Given the description of an element on the screen output the (x, y) to click on. 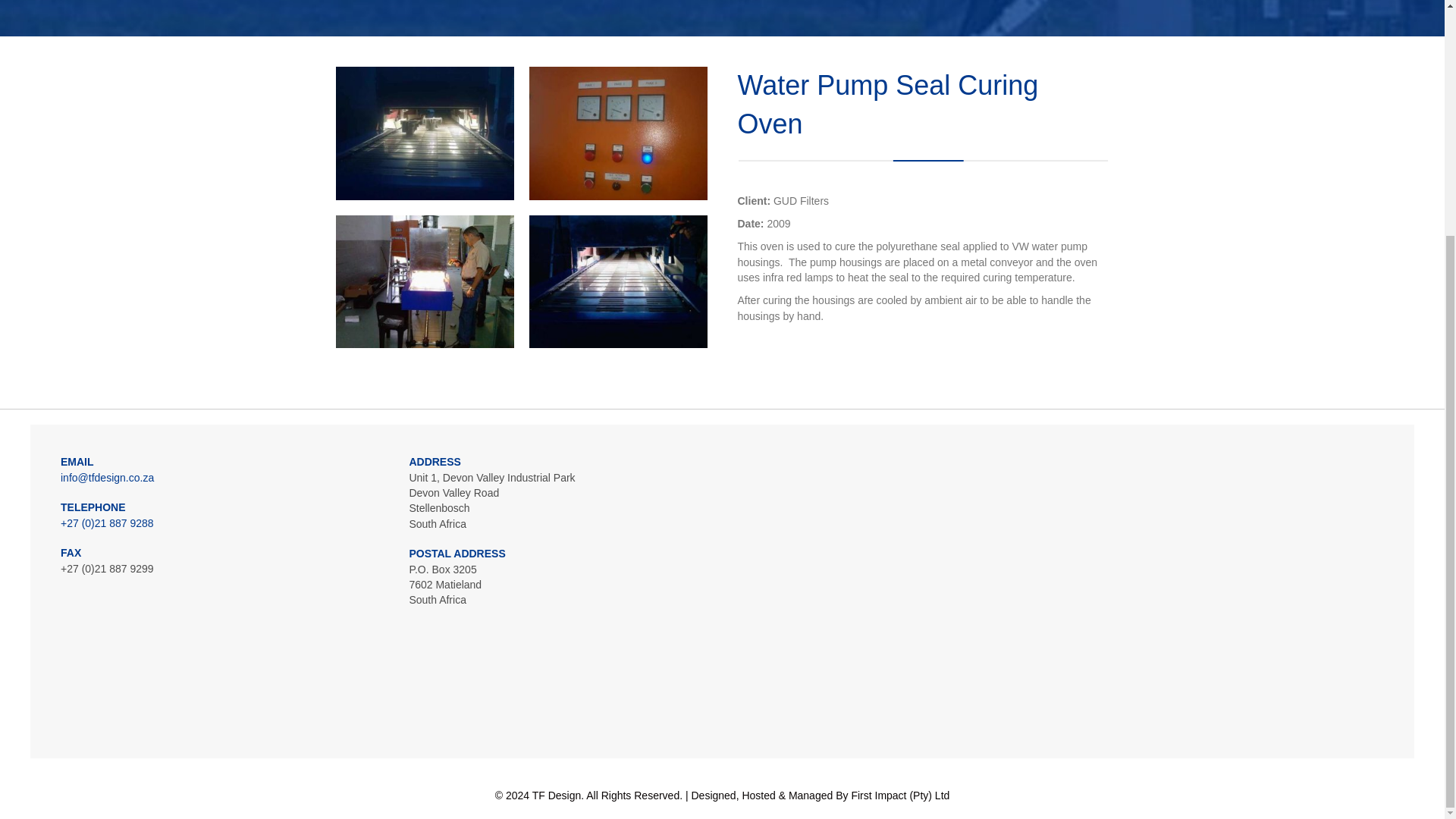
EMAIL (77, 461)
TELEPHONE (93, 507)
